Given the description of an element on the screen output the (x, y) to click on. 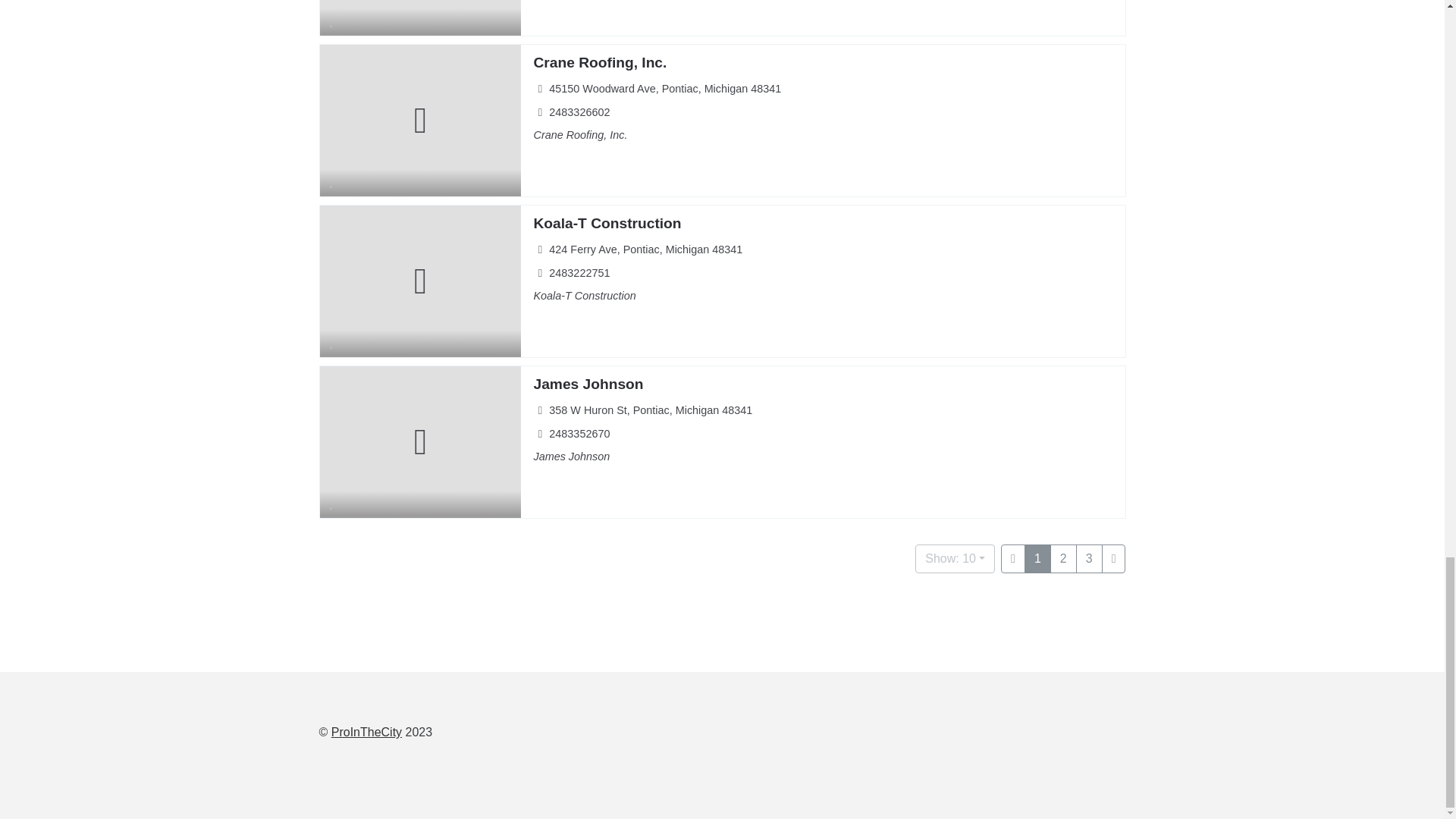
Crane Roofing, Inc. (599, 62)
